Given the description of an element on the screen output the (x, y) to click on. 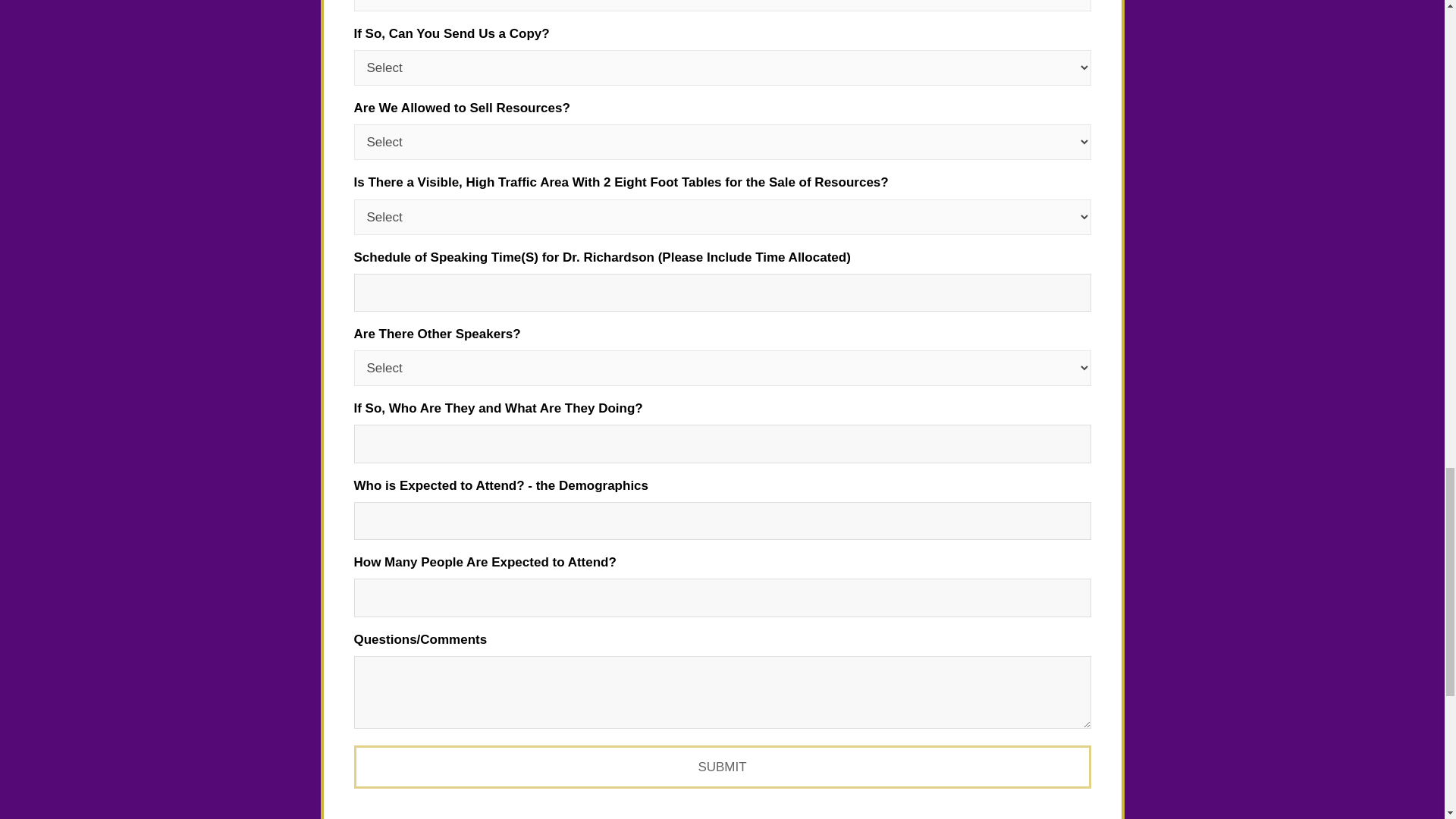
Submit (721, 766)
